Given the description of an element on the screen output the (x, y) to click on. 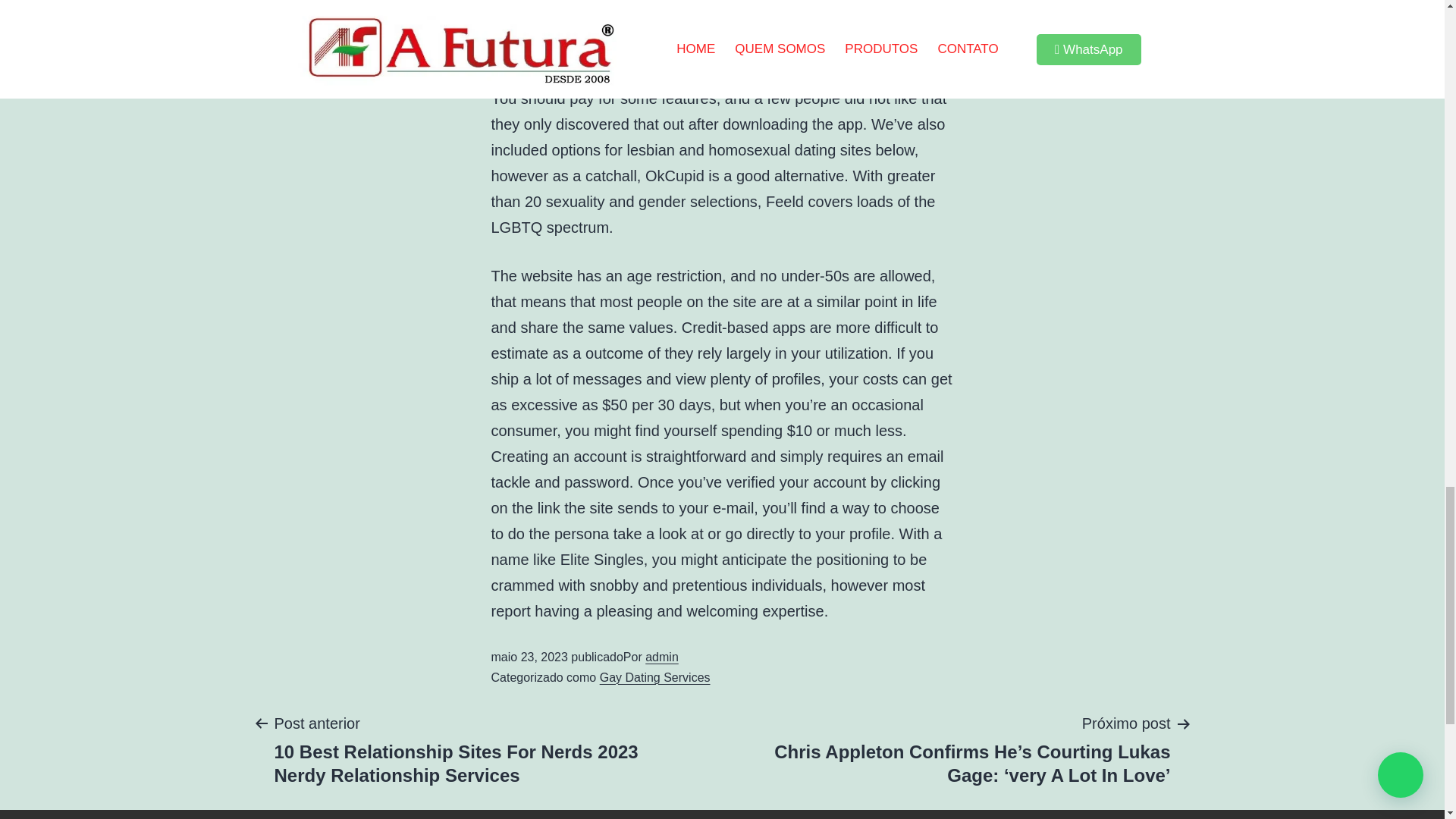
Gay Dating Services (654, 676)
admin (661, 656)
